Given the description of an element on the screen output the (x, y) to click on. 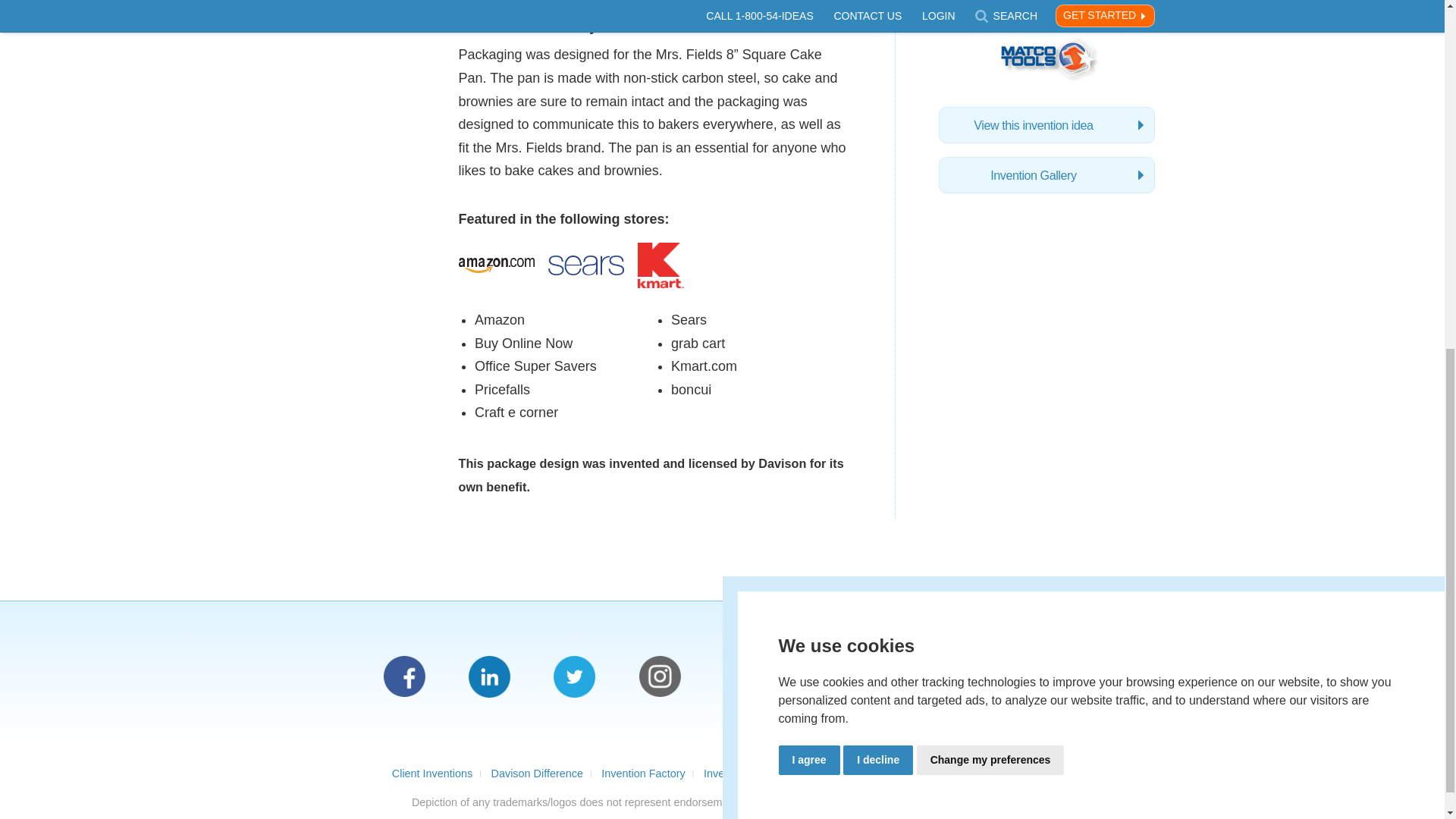
I agree (808, 134)
Submit (1047, 677)
Submit (1047, 677)
Change my preferences (990, 134)
I decline (877, 134)
